Given the description of an element on the screen output the (x, y) to click on. 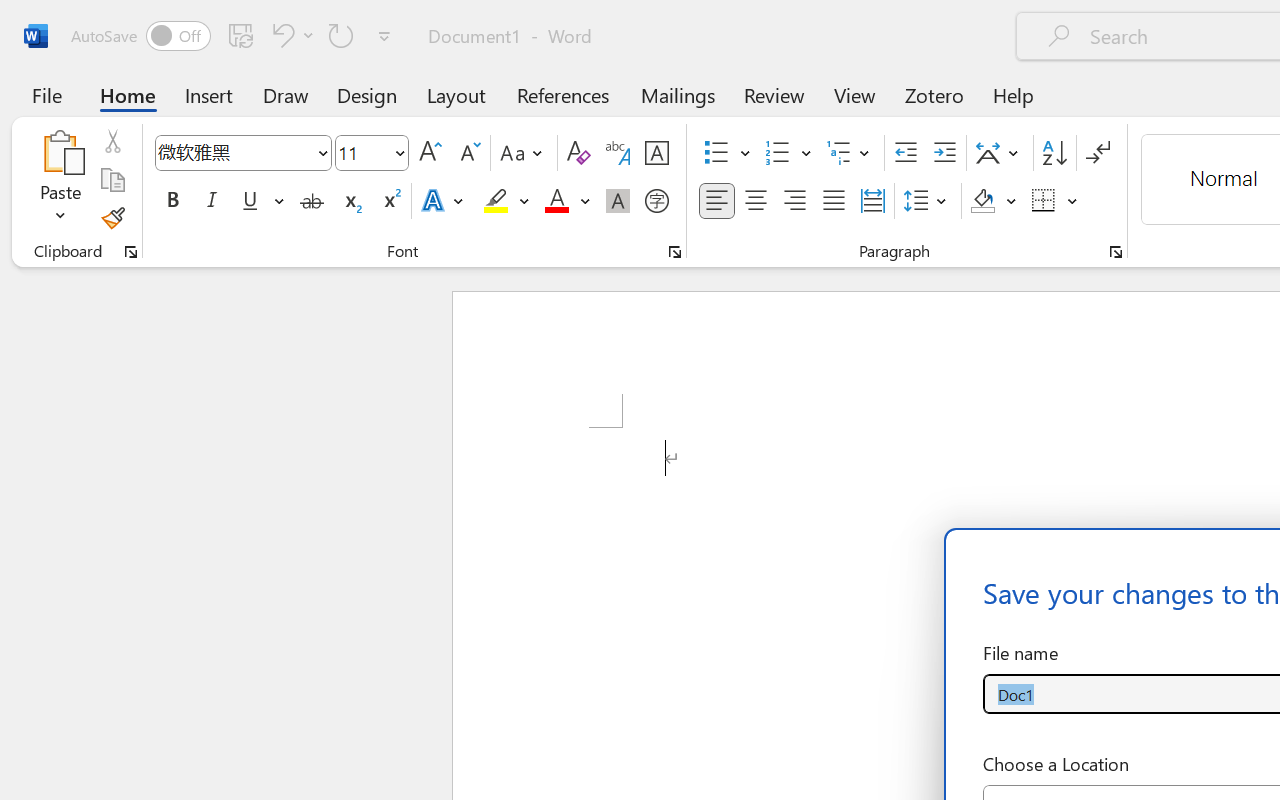
Repeat Style (341, 35)
